Given the description of an element on the screen output the (x, y) to click on. 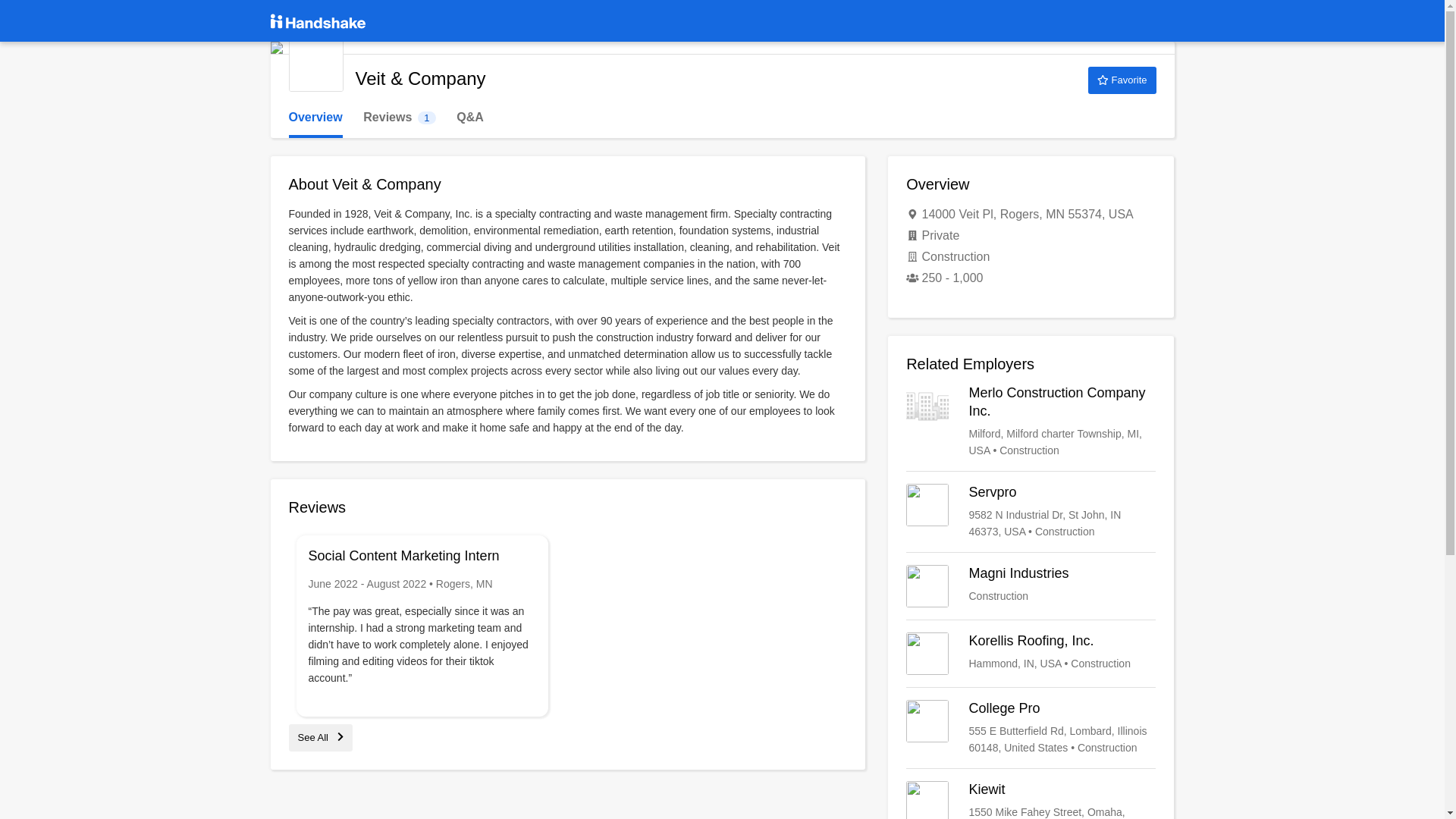
Merlo Construction Company Inc. (398, 117)
Servpro (1030, 421)
See All (1030, 511)
Korellis Roofing, Inc. (320, 737)
Favorite (1030, 653)
Overview (1121, 80)
College Pro (315, 117)
Kiewit (1030, 727)
Magni Industries (1030, 586)
